Given the description of an element on the screen output the (x, y) to click on. 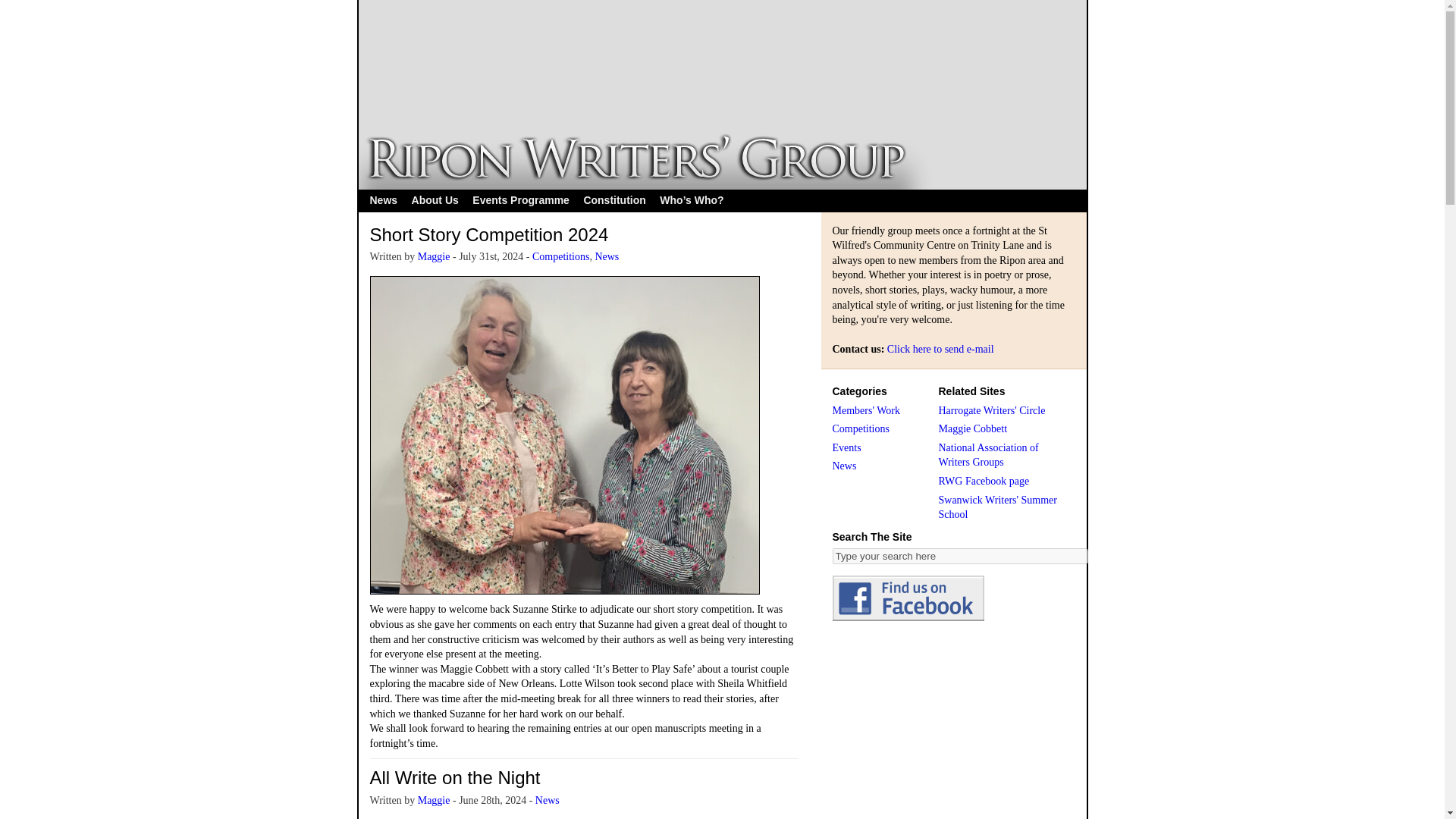
Maggie (433, 799)
Constitution (614, 200)
RWG Facebook page (984, 480)
News (547, 799)
All Write on the Night (454, 777)
News (606, 256)
Maggie (433, 256)
Click here to send e-mail (940, 348)
About Us (435, 200)
Permanent Link to Short Story Competition 2024 (488, 234)
